Given the description of an element on the screen output the (x, y) to click on. 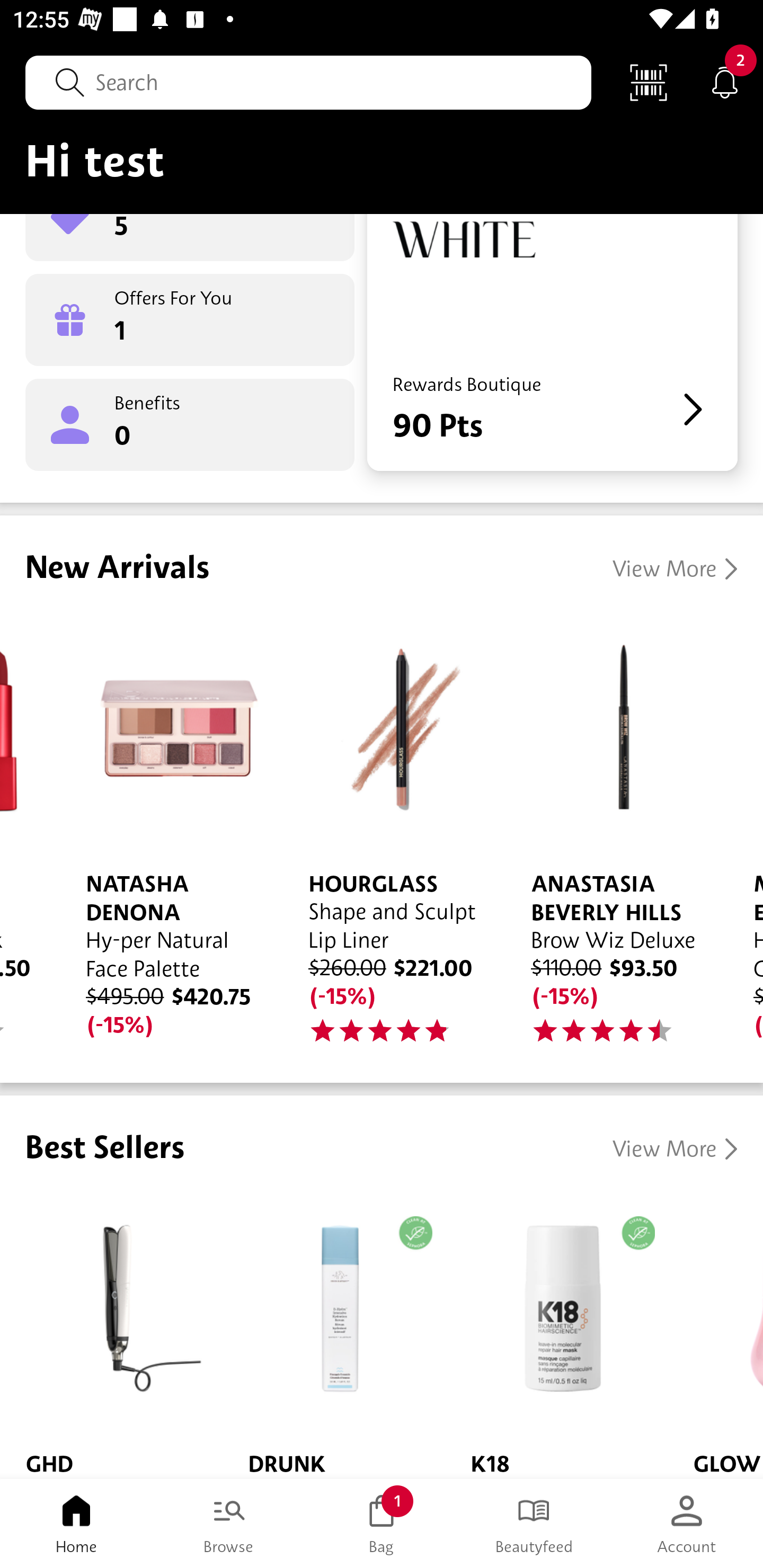
Scan Code (648, 81)
Notifications (724, 81)
Search (308, 81)
Rewards Boutique 90 Pts (552, 341)
Offers For You 1 (189, 319)
Benefits 0 (189, 424)
View More (674, 569)
View More (674, 1149)
GHD Platinum+ Styler (111, 1334)
DRUNK ELEPHANT (333, 1334)
K18 Leave-in Molecular Repair Hair Mask (555, 1334)
Browse (228, 1523)
Bag 1 Bag (381, 1523)
Beautyfeed (533, 1523)
Account (686, 1523)
